Given the description of an element on the screen output the (x, y) to click on. 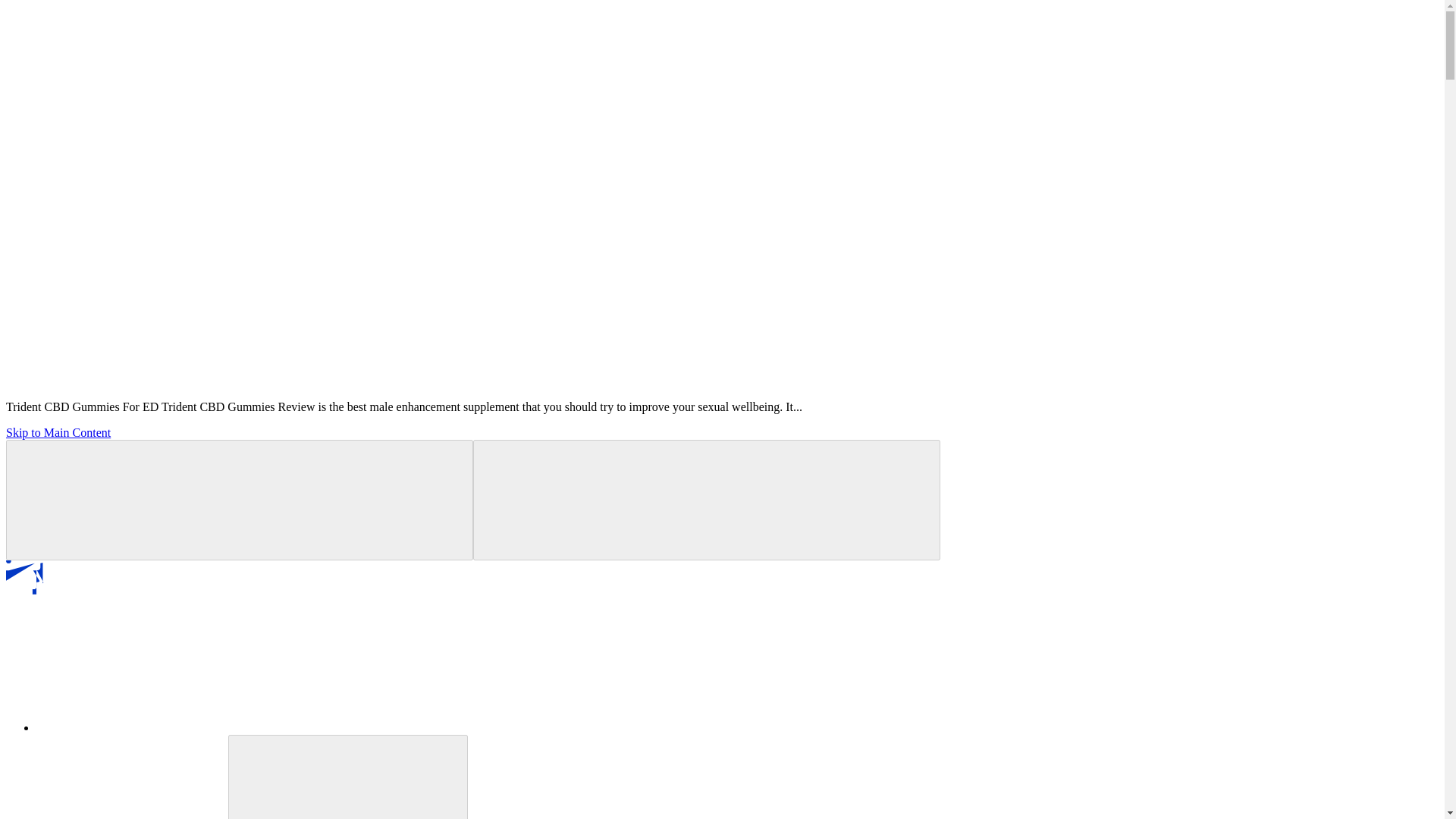
Skip to Main Content (57, 431)
